Given the description of an element on the screen output the (x, y) to click on. 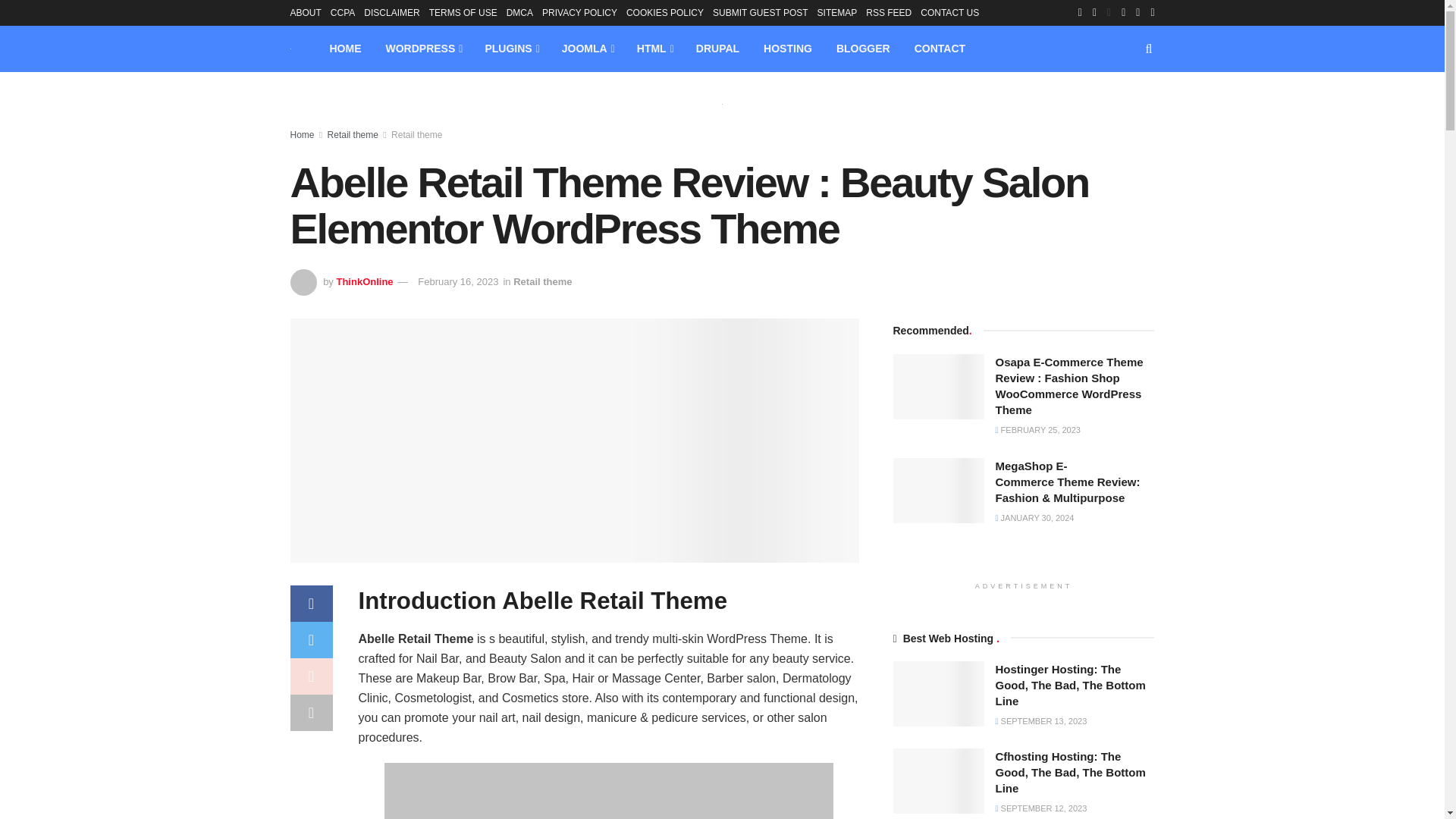
RSS FEED (888, 12)
DMCA (519, 12)
PRIVACY POLICY (579, 12)
DISCLAIMER (391, 12)
SITEMAP (836, 12)
TERMS OF USE (463, 12)
CONTACT US (949, 12)
PLUGINS (509, 48)
WORDPRESS (421, 48)
ABOUT (304, 12)
